Given the description of an element on the screen output the (x, y) to click on. 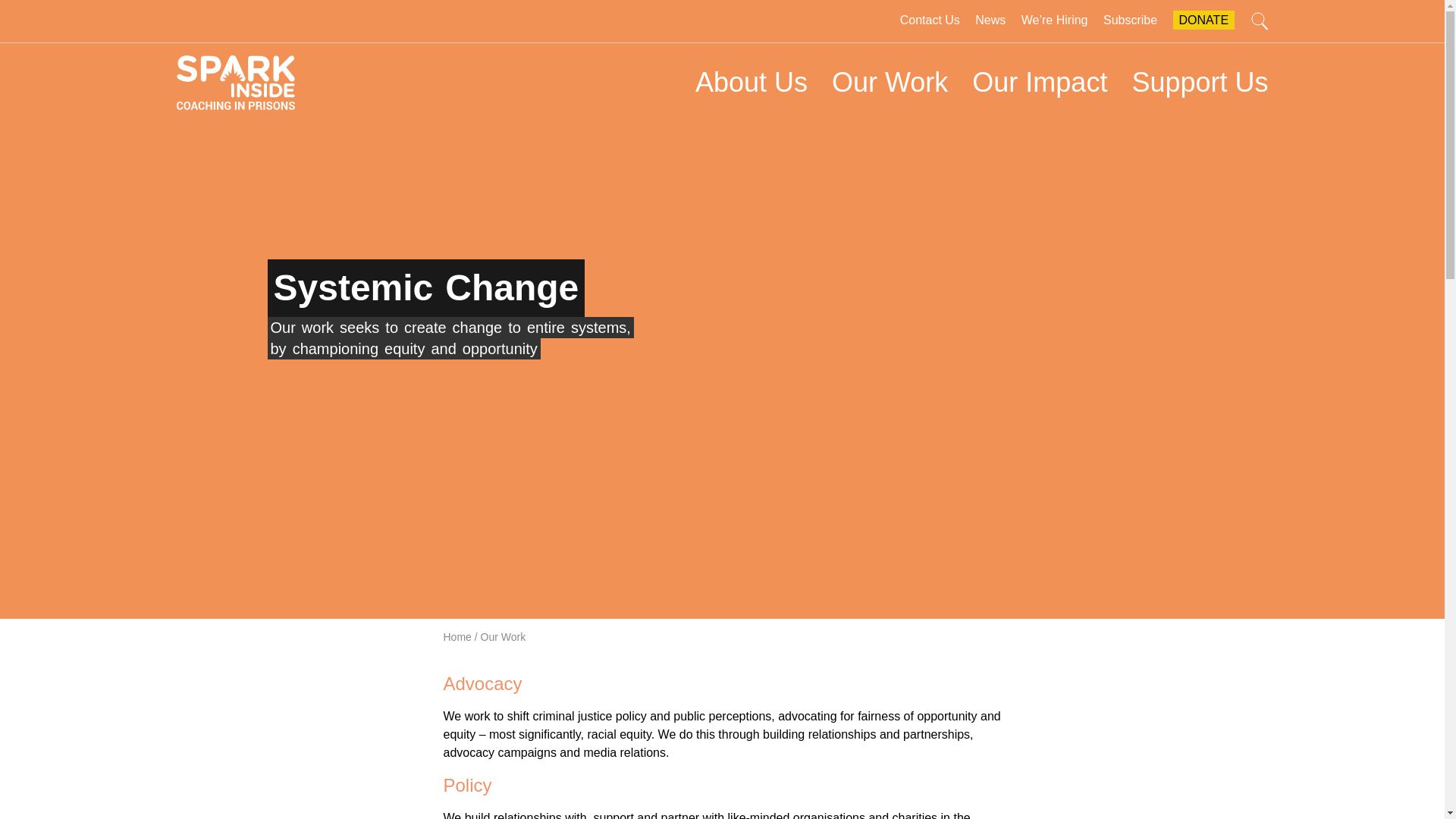
About Us (750, 82)
Support Us (1199, 82)
Search (1258, 21)
Home (458, 636)
Our Impact (1039, 82)
Contact Us (929, 19)
News (990, 19)
Subscribe (1130, 19)
DONATE (1203, 19)
